Given the description of an element on the screen output the (x, y) to click on. 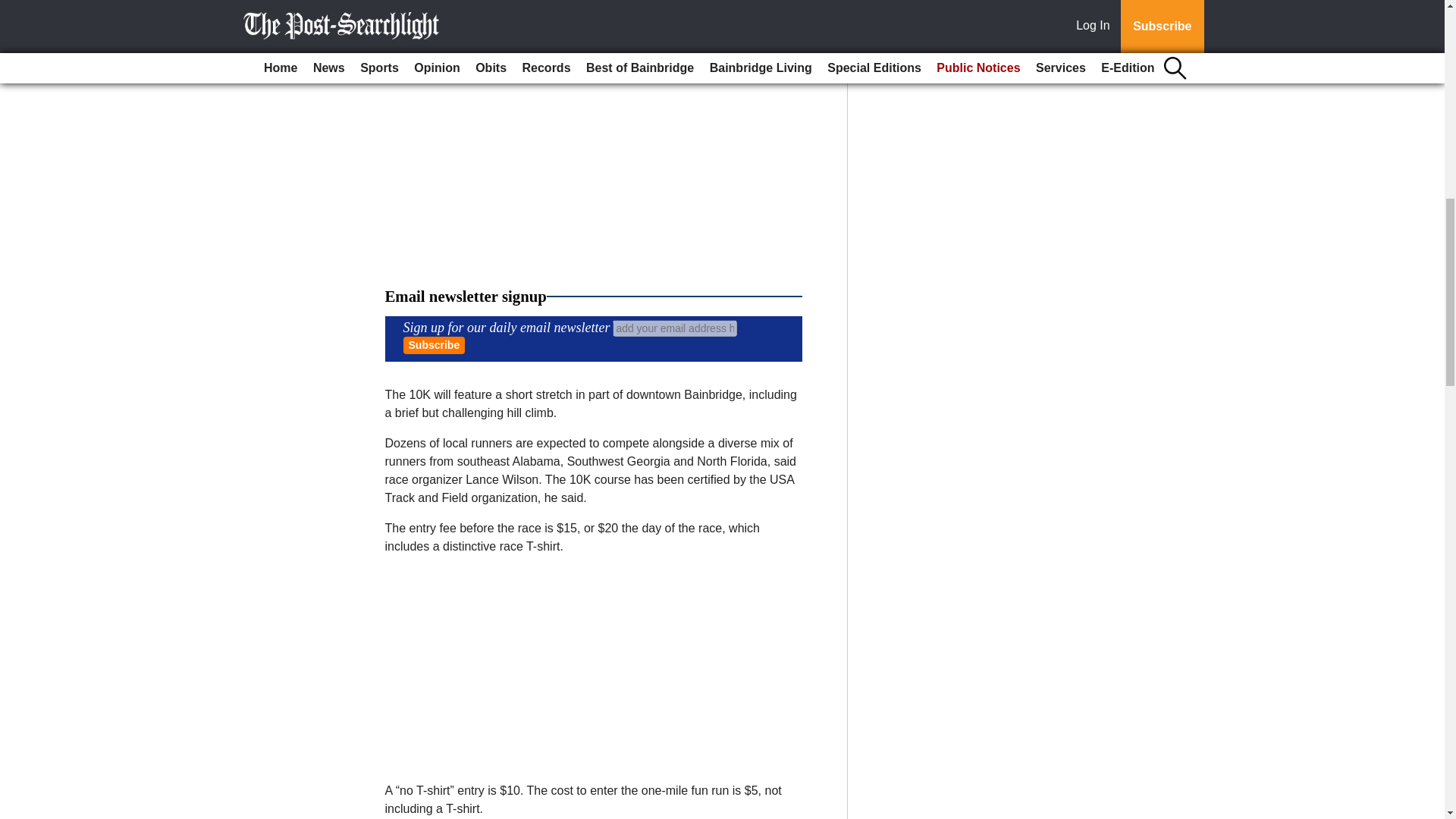
Subscribe (434, 344)
Subscribe (434, 344)
